Given the description of an element on the screen output the (x, y) to click on. 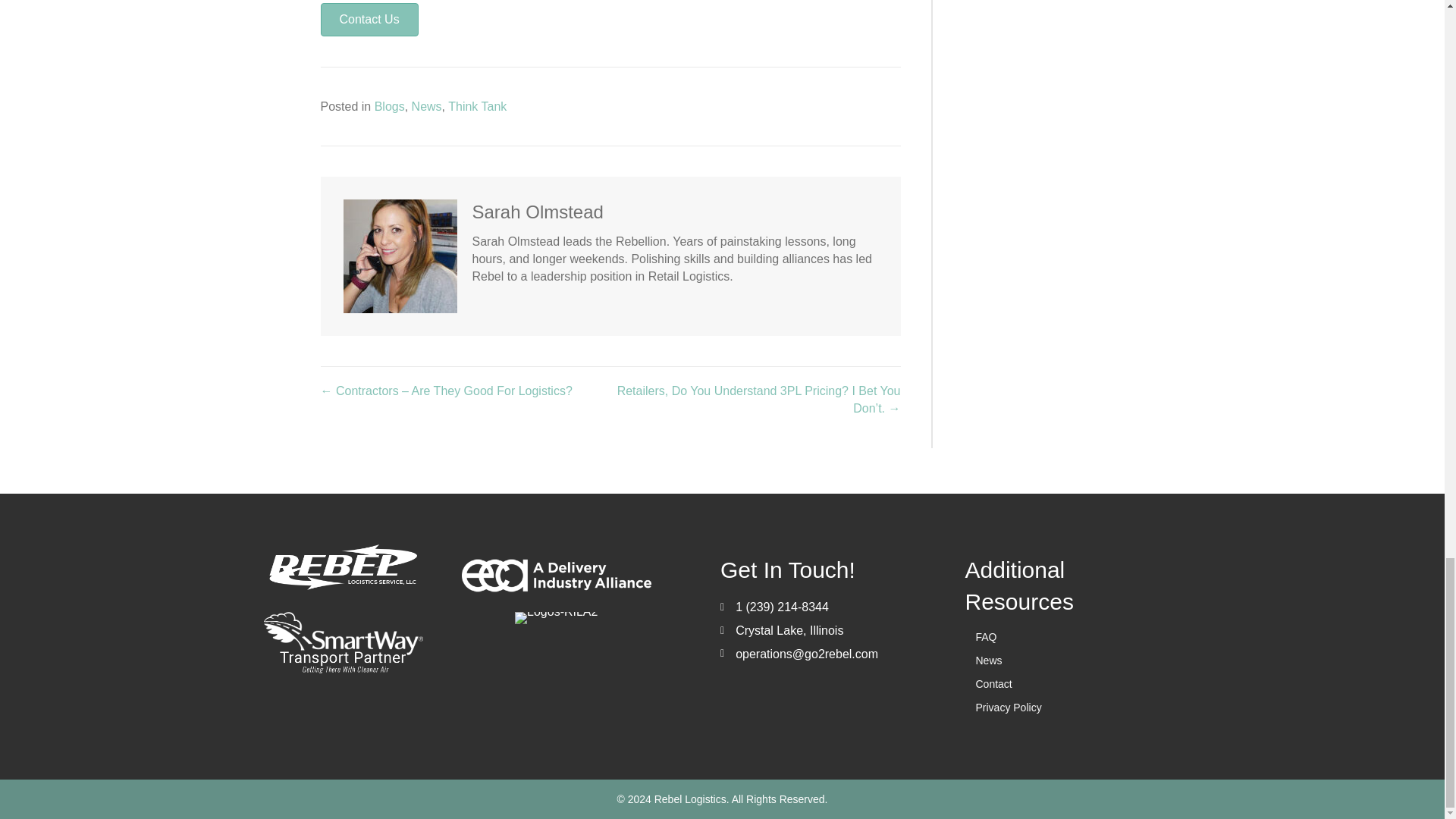
Logos-ECA2 (555, 574)
Blogs (389, 106)
Logo-White (343, 567)
Logos-RILA2 (555, 617)
Smartway Logo (343, 642)
News (427, 106)
Think Tank (477, 106)
Contact Us (368, 19)
